Given the description of an element on the screen output the (x, y) to click on. 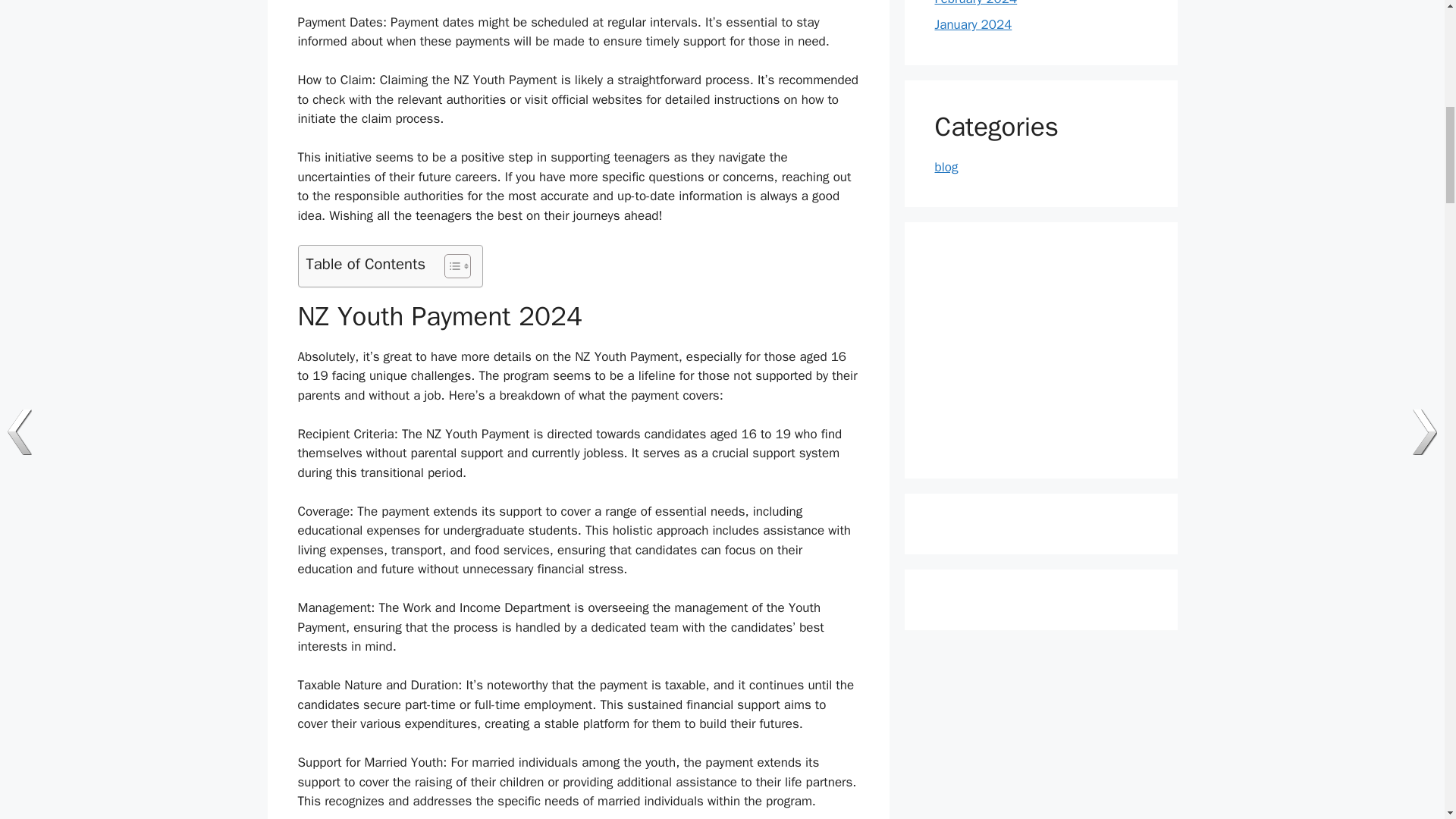
February 2024 (975, 3)
blog (946, 166)
January 2024 (972, 24)
